Given the description of an element on the screen output the (x, y) to click on. 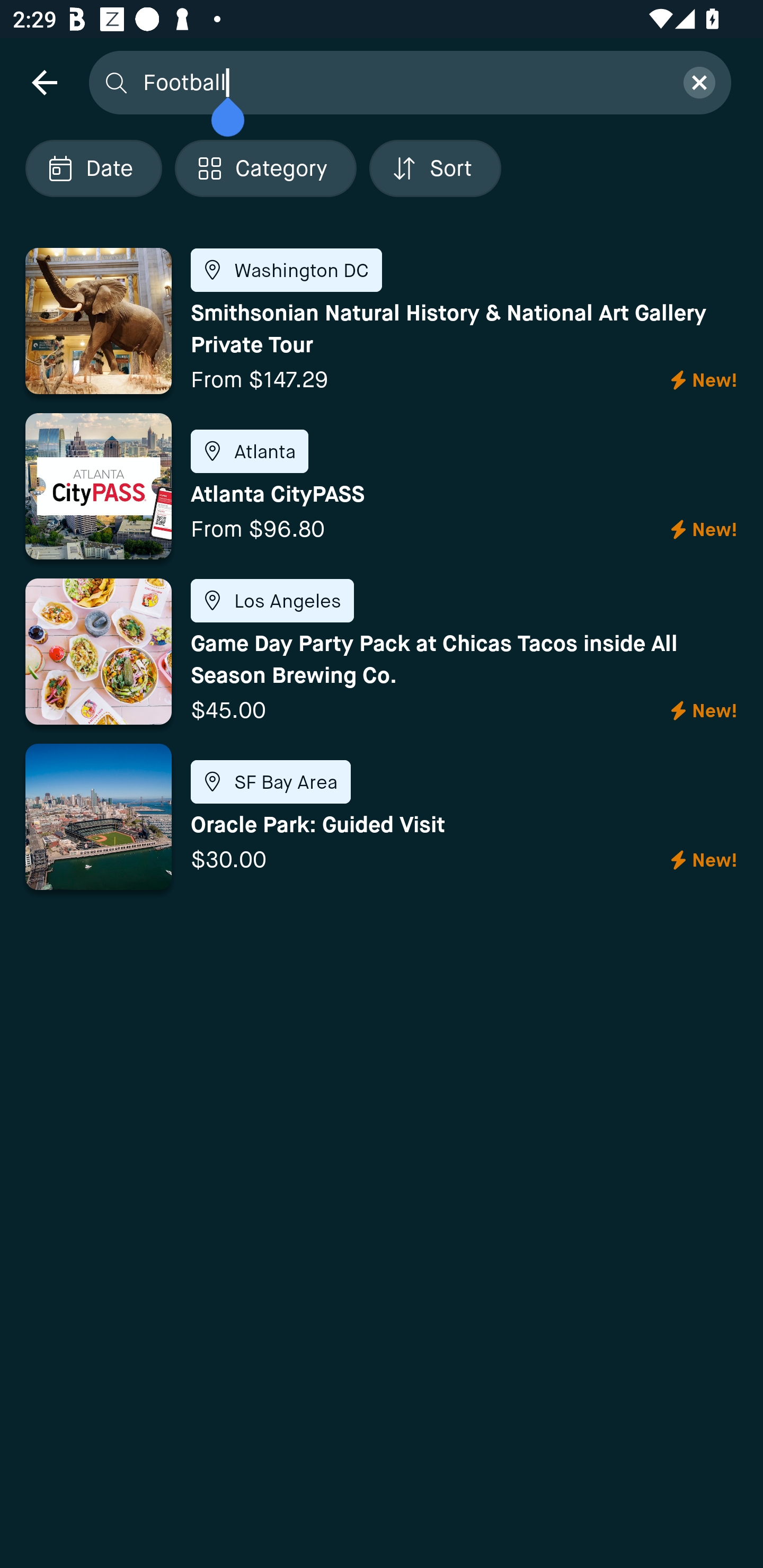
navigation icon (44, 81)
Football (402, 81)
Localized description Date (93, 168)
Localized description Category (265, 168)
Localized description Sort (435, 168)
